Given the description of an element on the screen output the (x, y) to click on. 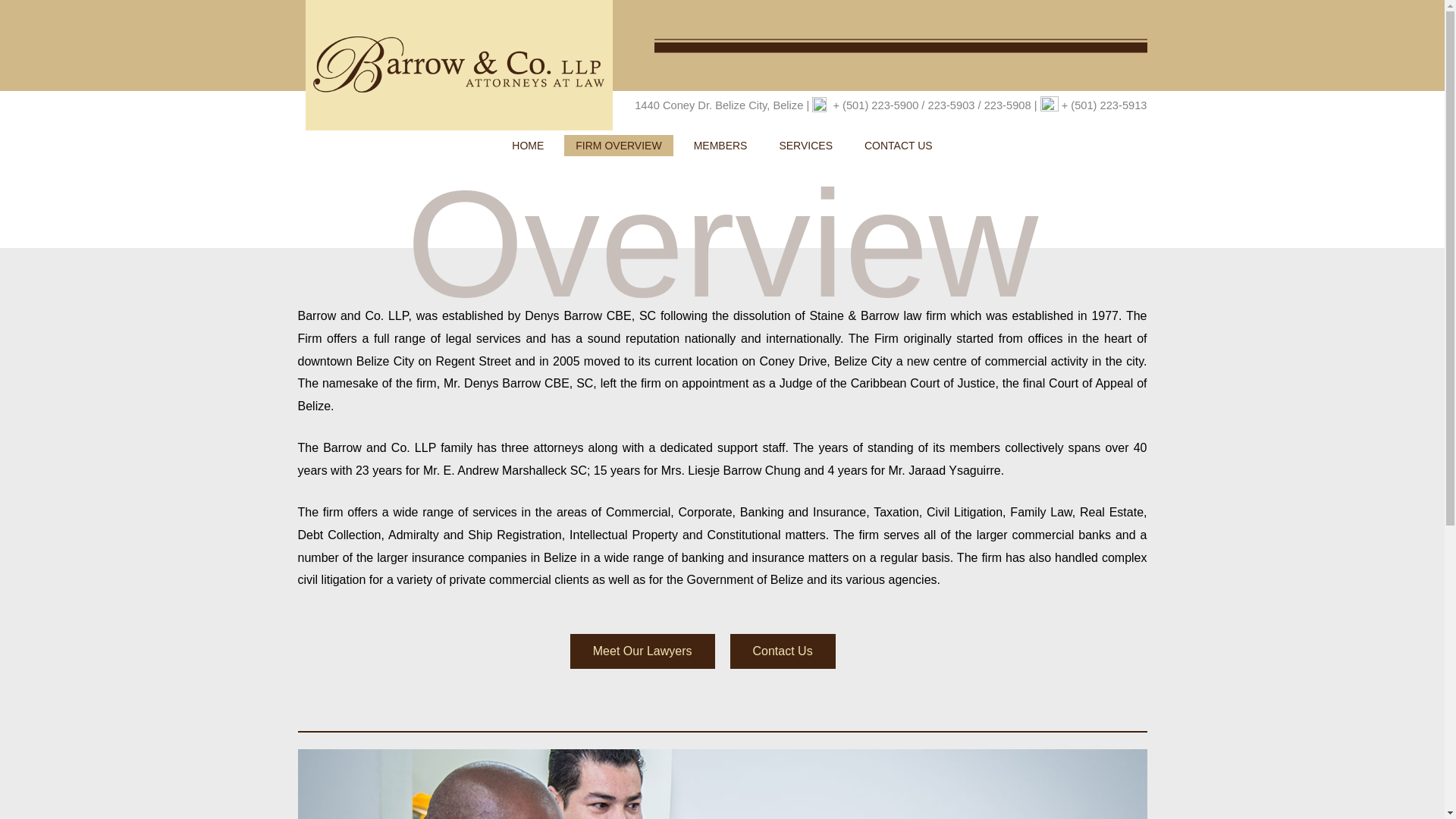
Meet Our Lawyers (642, 651)
FIRM OVERVIEW (618, 145)
HOME (527, 145)
Contact Us (781, 651)
CONTACT US (898, 145)
MEMBERS (720, 145)
SERVICES (805, 145)
